Given the description of an element on the screen output the (x, y) to click on. 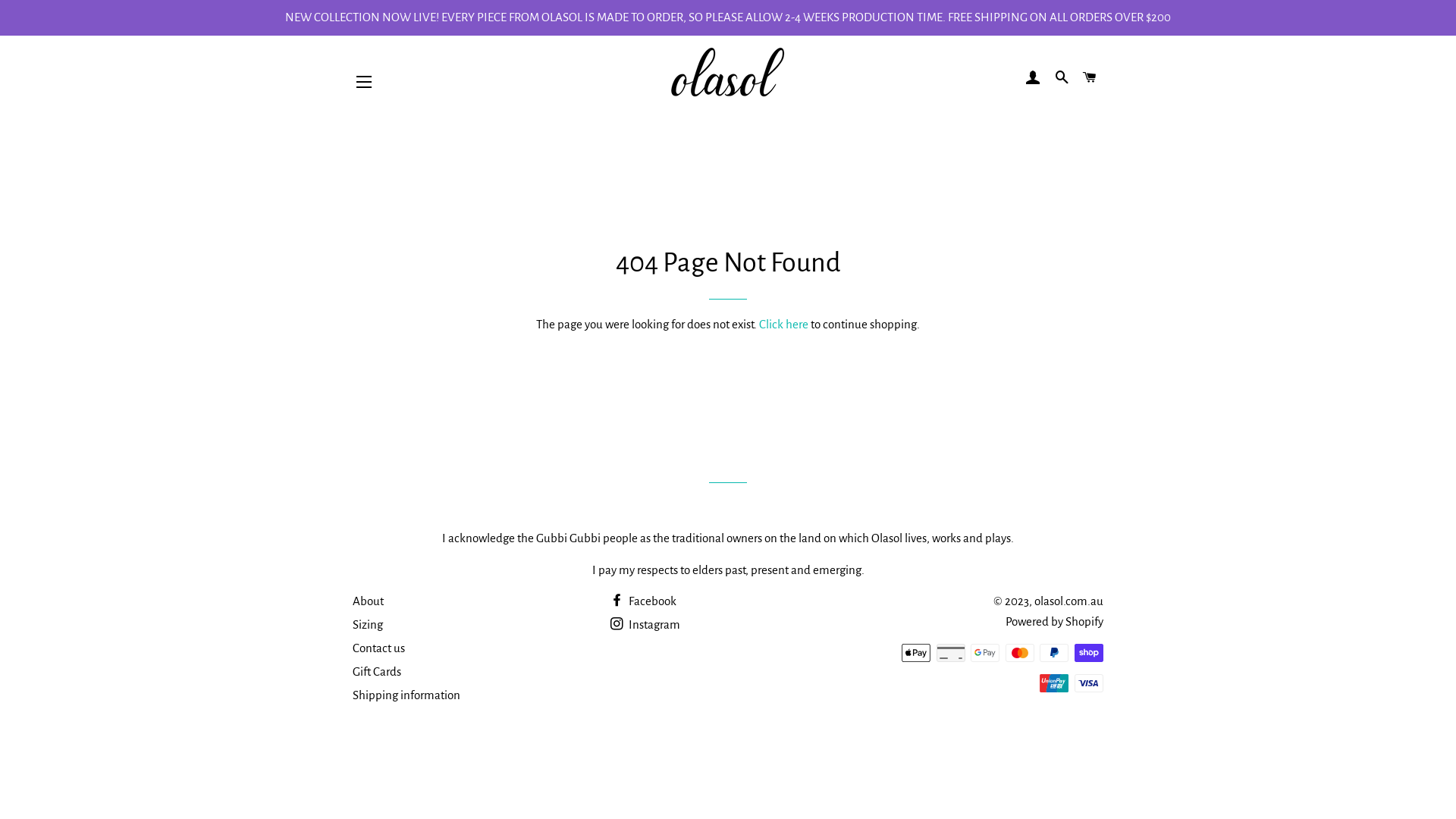
Click here Element type: text (783, 323)
Contact us Element type: text (378, 647)
Gift Cards Element type: text (376, 671)
Shipping information Element type: text (406, 694)
SITE NAVIGATION Element type: text (363, 81)
CART Element type: text (1090, 78)
Instagram Element type: text (645, 624)
LOG IN Element type: text (1033, 78)
Powered by Shopify Element type: text (1054, 621)
Facebook Element type: text (643, 600)
About Element type: text (367, 600)
Sizing Element type: text (367, 624)
SEARCH Element type: text (1061, 78)
olasol.com.au Element type: text (1068, 600)
